Given the description of an element on the screen output the (x, y) to click on. 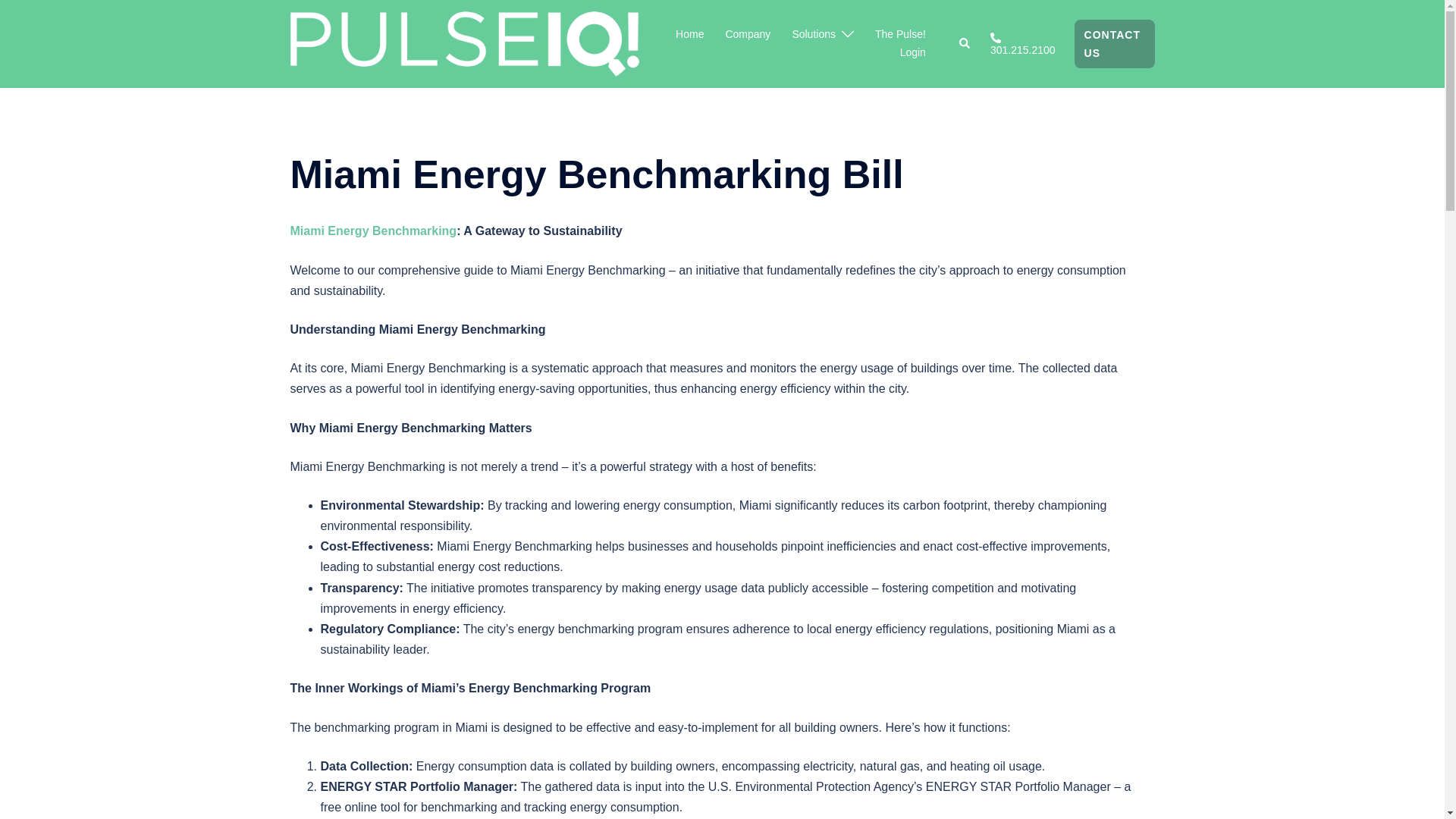
CONTACT US (1114, 43)
Miami Energy Benchmarking (373, 230)
301.215.2100 (1022, 43)
The Pulse! (900, 34)
Search (965, 43)
Login (912, 53)
Home (689, 34)
Solutions (813, 34)
Company (747, 34)
